Given the description of an element on the screen output the (x, y) to click on. 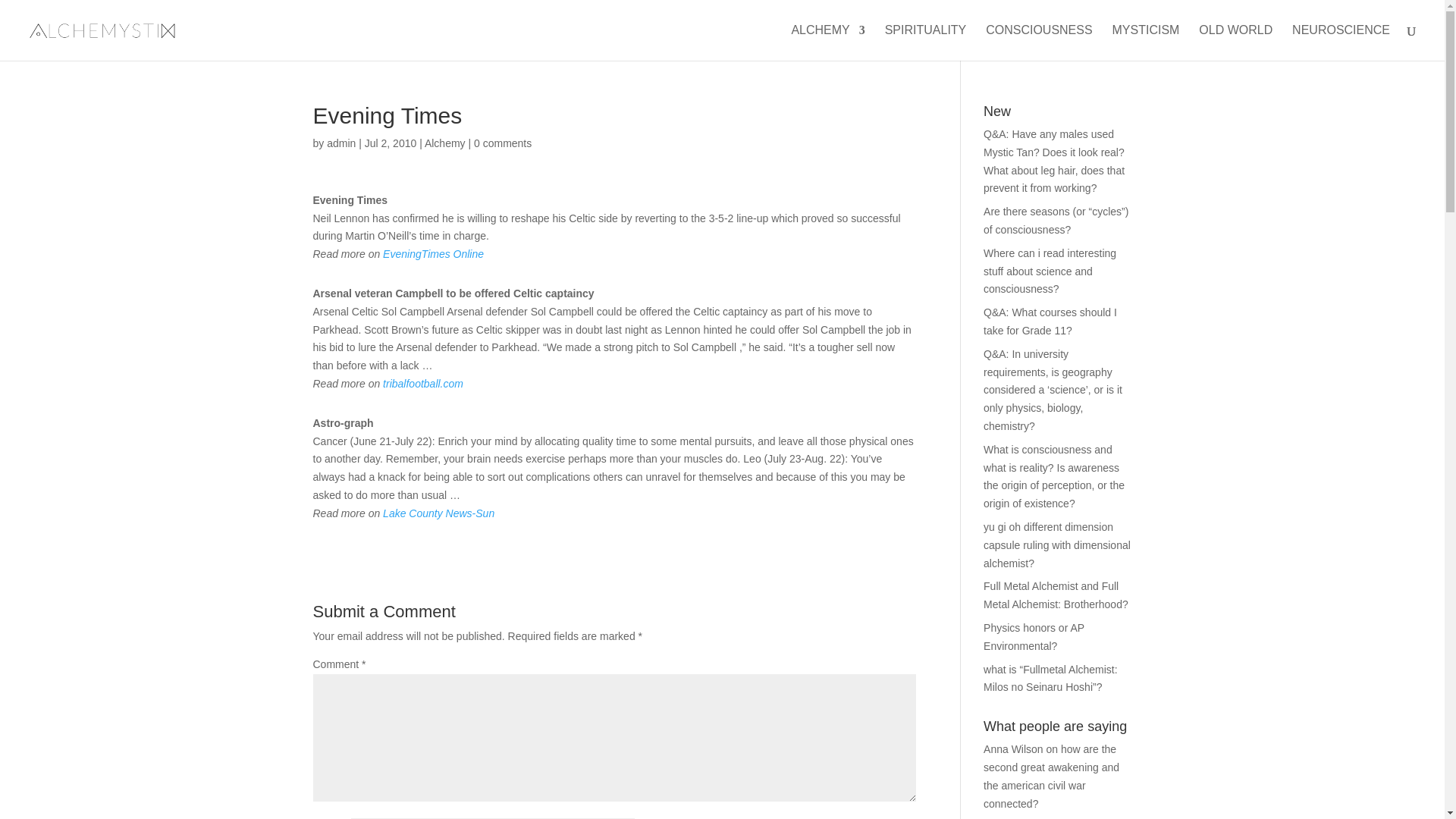
CONSCIOUSNESS (1038, 42)
MYSTICISM (1145, 42)
SPIRITUALITY (925, 42)
Full Metal Alchemist and Full Metal Alchemist: Brotherhood? (1056, 594)
admin (340, 143)
Alchemy (445, 143)
Lake County News-Sun (438, 512)
